Given the description of an element on the screen output the (x, y) to click on. 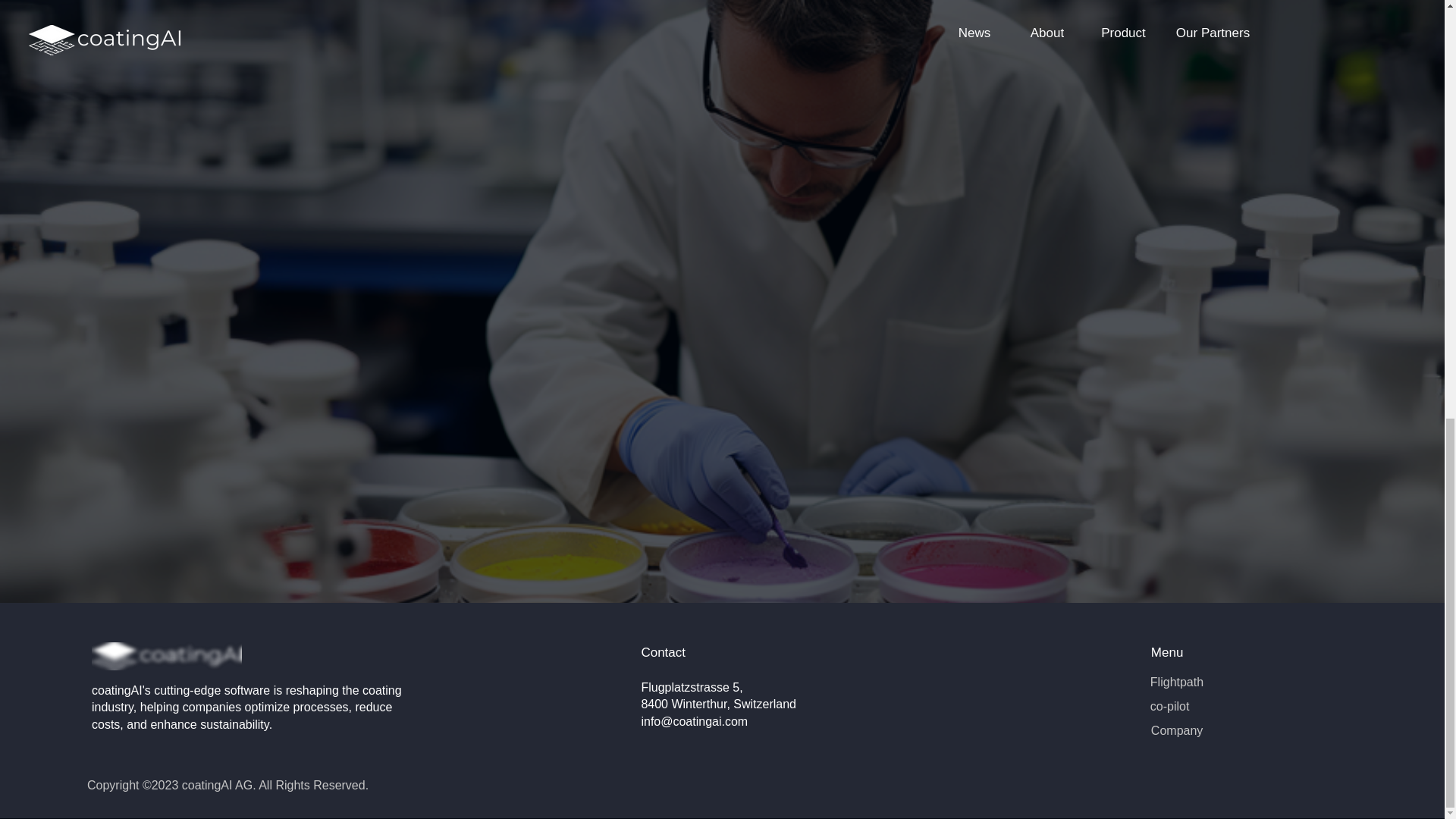
co-pilot (1169, 706)
Company (1176, 730)
Flightpath (1177, 681)
